Given the description of an element on the screen output the (x, y) to click on. 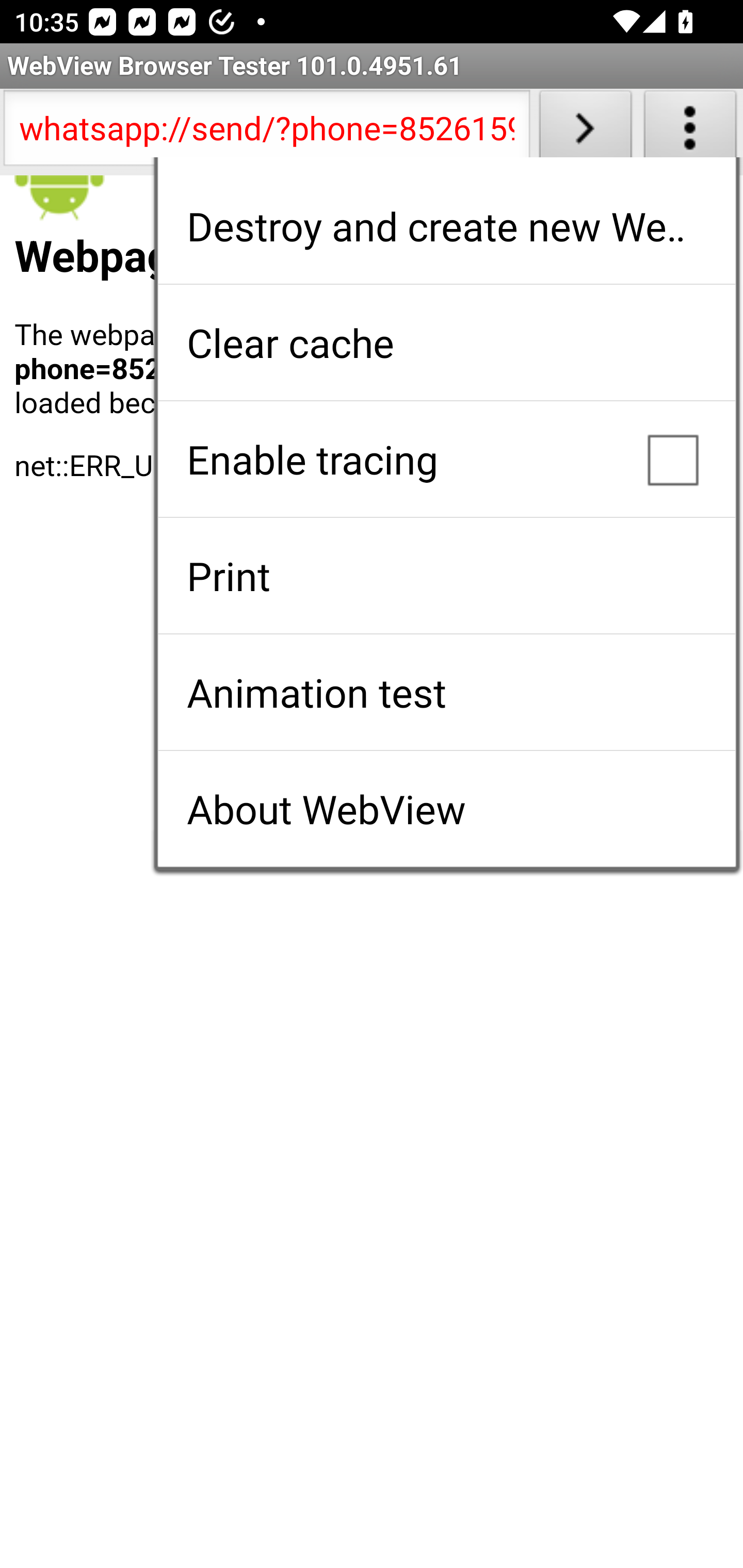
Destroy and create new WebView (446, 225)
Clear cache (446, 342)
Enable tracing (446, 459)
Print (446, 575)
Animation test (446, 692)
About WebView (446, 809)
